Given the description of an element on the screen output the (x, y) to click on. 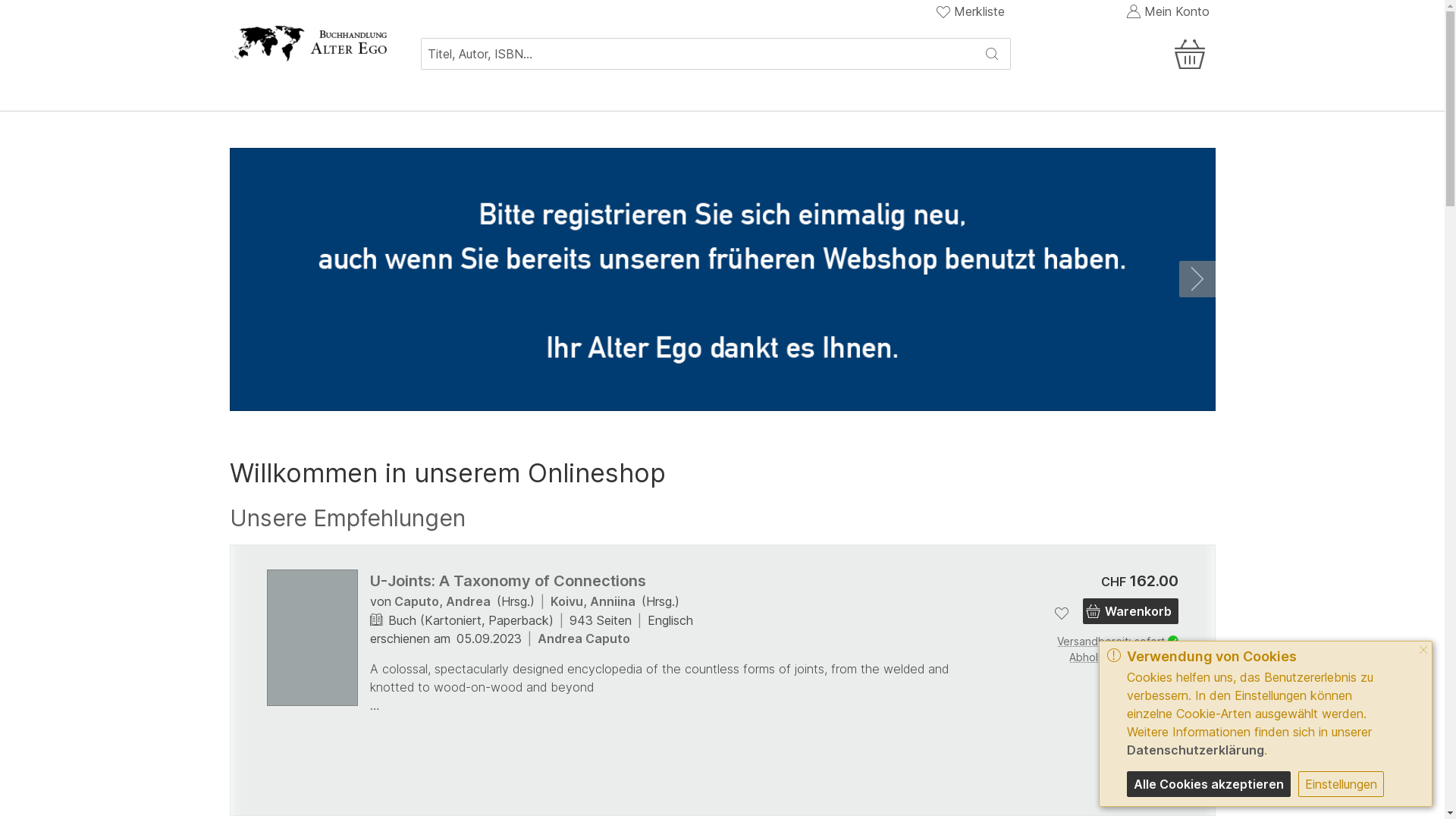
Diesen Artikel auf die Merkliste legen Element type: hover (1062, 612)
Weiter Element type: hover (1196, 278)
Versandbereit: sofort Element type: text (1093, 641)
Suchen Element type: hover (991, 53)
U-Joints: A Taxonomy of Connections Element type: hover (311, 637)
Schliessen Element type: hover (1422, 649)
Koivu, Anniina Element type: text (592, 600)
Unsere Empfehlungen Element type: text (346, 518)
Das Farbenbuch Element type: hover (1297, 631)
Einstellungen Element type: text (1340, 784)
Mein Konto Element type: text (1166, 11)
Weiter Element type: hover (1196, 680)
Caputo, Andrea Element type: text (442, 600)
Zum Warenkorb Element type: hover (1192, 40)
Abholbereit: sofort Element type: text (1093, 657)
Andrea Caputo Element type: text (582, 638)
Zum Warenkorb Element type: hover (1127, 53)
Warenkorb Element type: text (1130, 611)
Zur Homepage Element type: hover (309, 42)
U-Joints: A Taxonomy of Connections Element type: text (508, 580)
Alle Cookies akzeptieren Element type: text (1208, 784)
Merkliste Element type: text (969, 11)
